Given the description of an element on the screen output the (x, y) to click on. 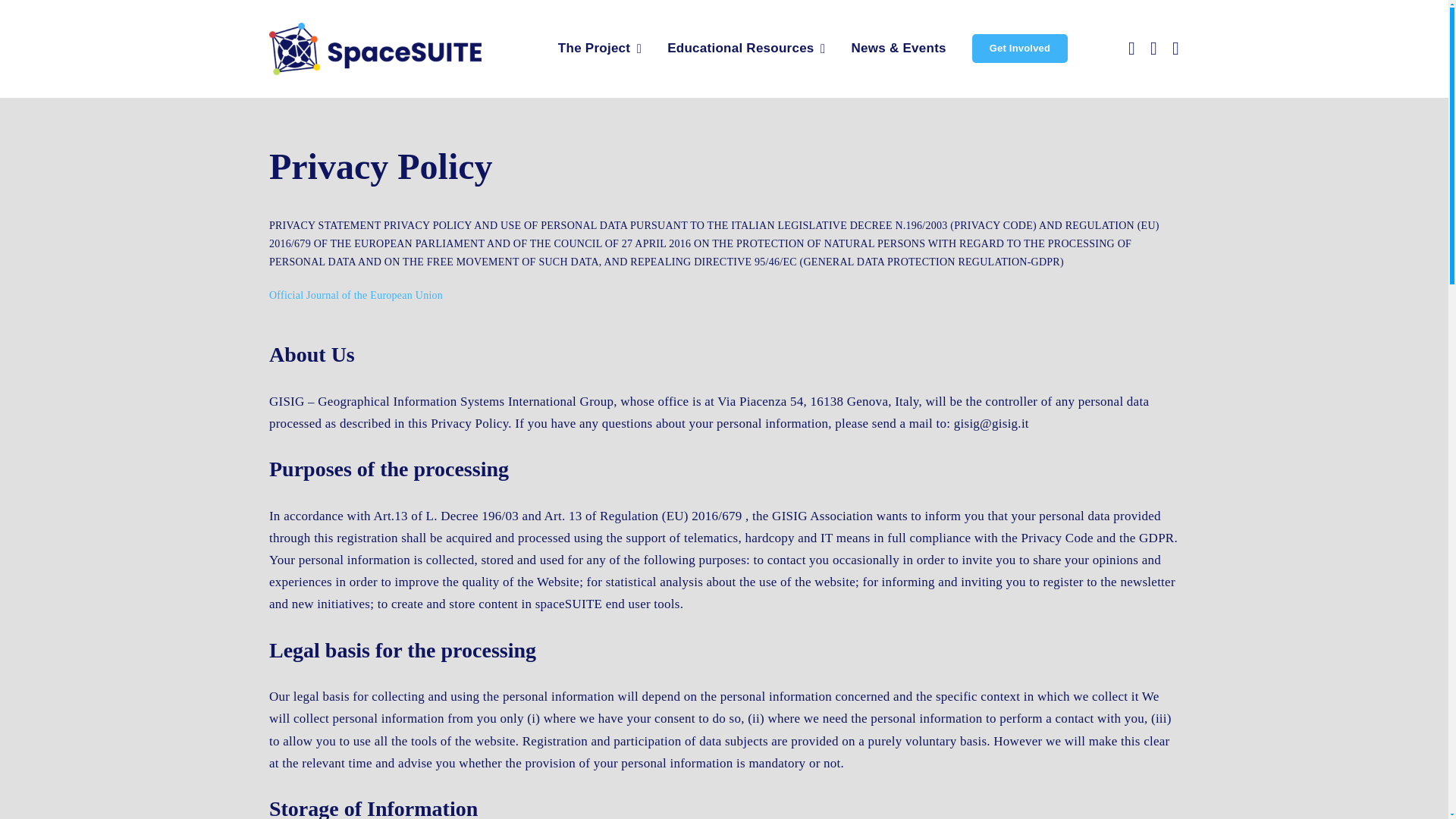
Get Involved (1019, 48)
The Project (599, 48)
Educational Resources (745, 48)
